Given the description of an element on the screen output the (x, y) to click on. 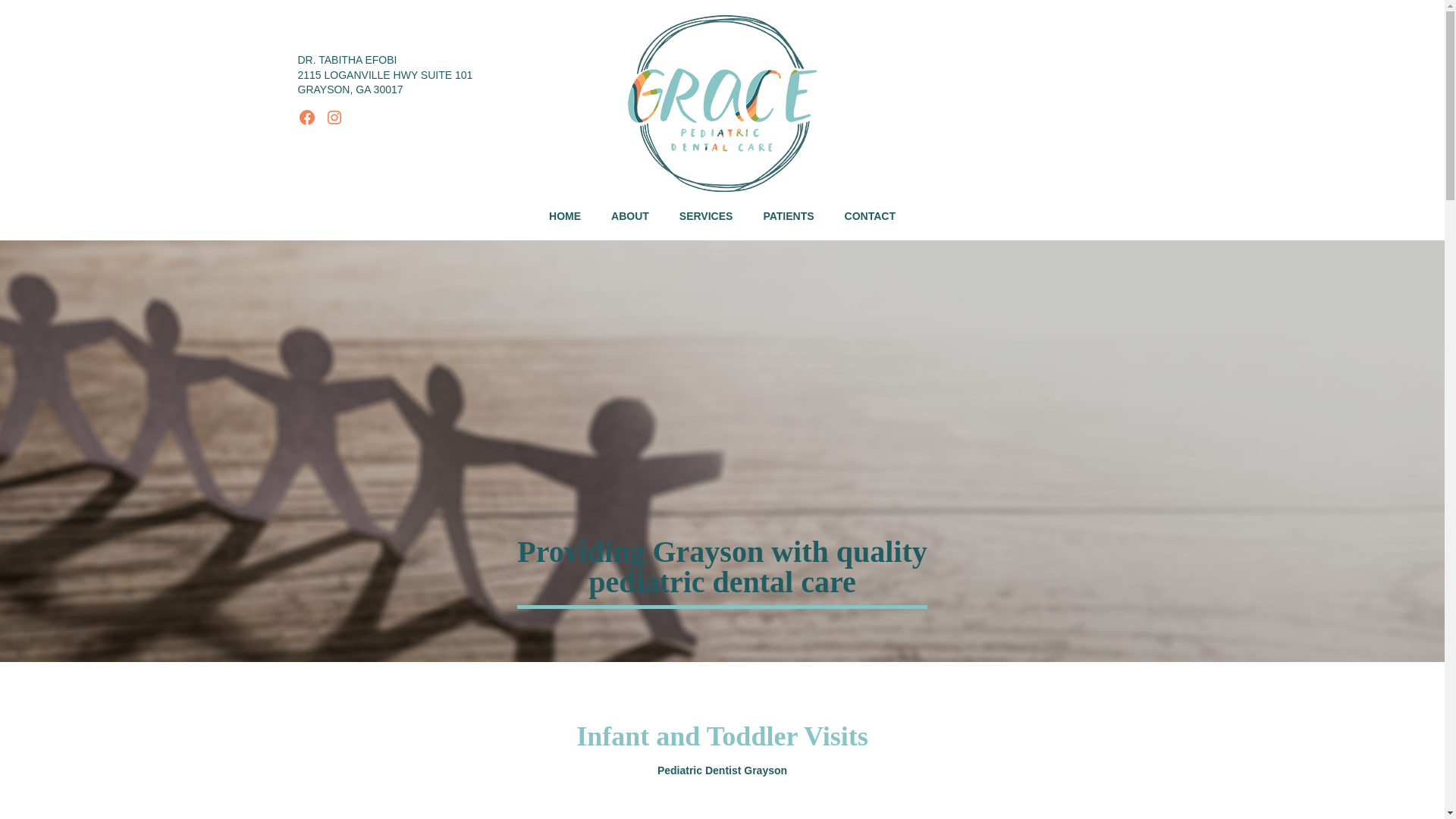
ABOUT (629, 217)
PATIENTS (788, 217)
HOME (564, 217)
FACEBOOK (306, 117)
SERVICES (705, 217)
INSTAGRAM (333, 117)
